Given the description of an element on the screen output the (x, y) to click on. 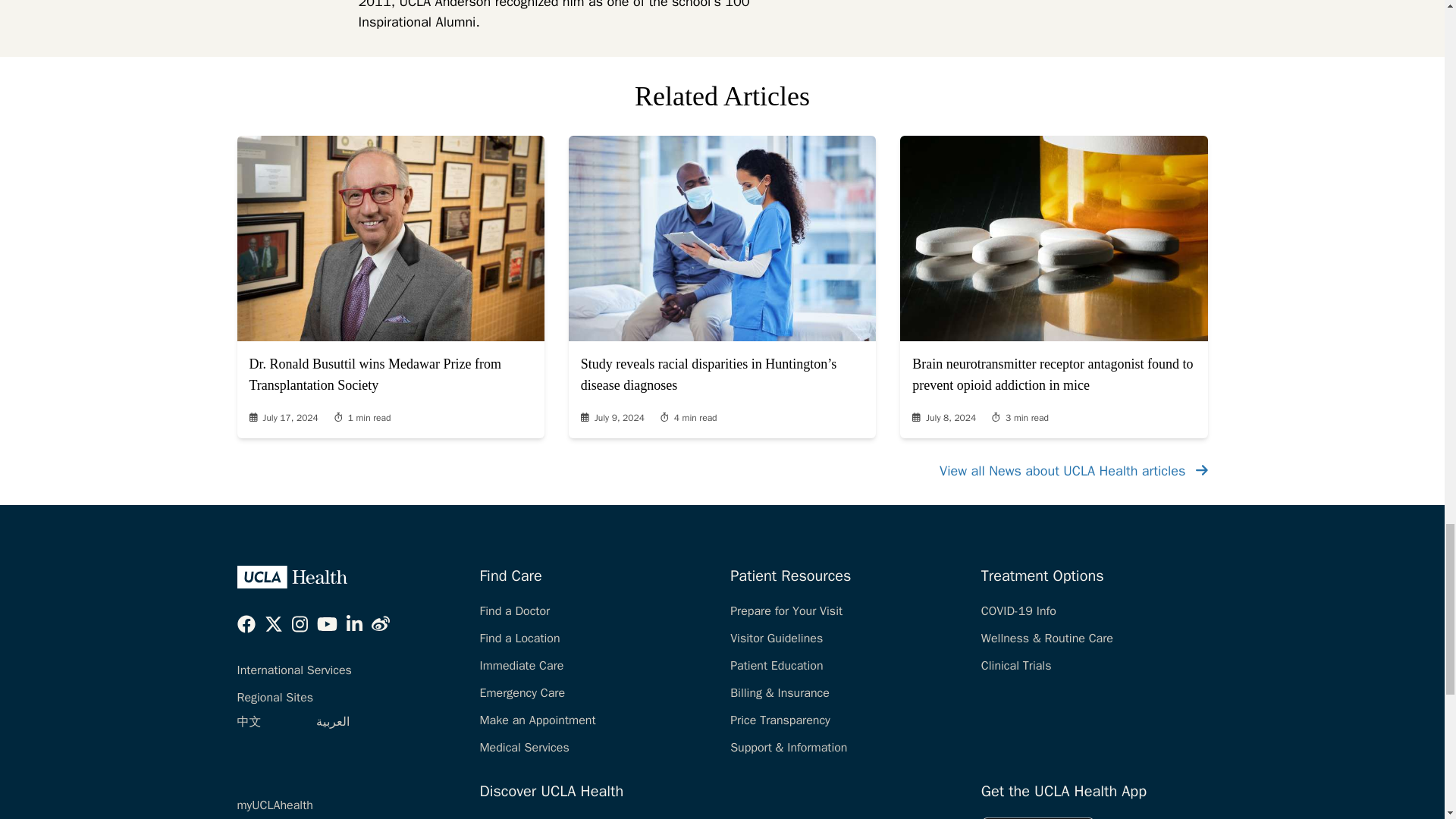
myUCLAhealth Login. (274, 805)
